Given the description of an element on the screen output the (x, y) to click on. 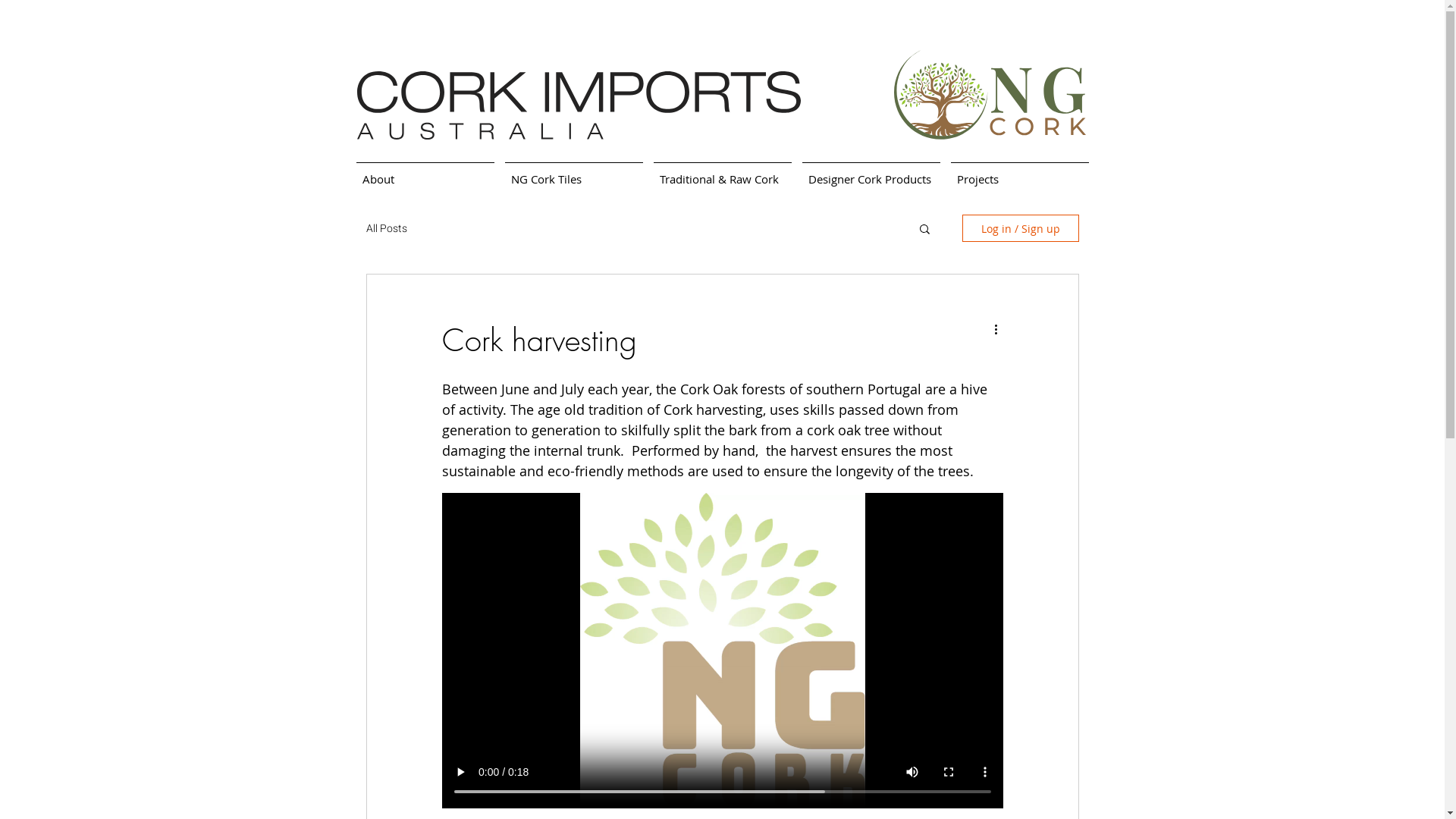
NG Cork Tiles Element type: text (572, 172)
Projects Element type: text (1018, 172)
Log in / Sign up Element type: text (1019, 227)
Traditional & Raw Cork Element type: text (721, 172)
All Posts Element type: text (385, 227)
